Given the description of an element on the screen output the (x, y) to click on. 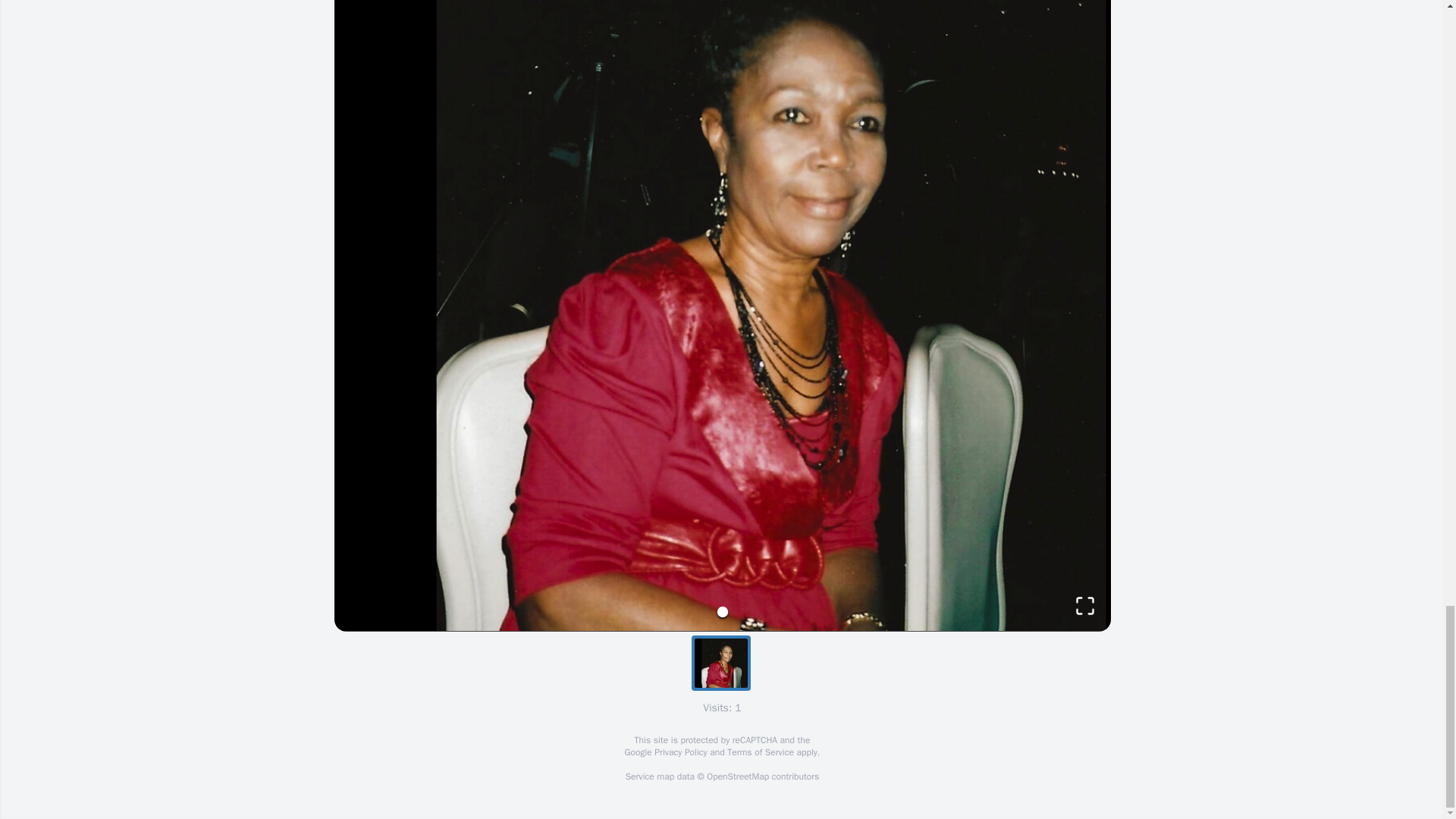
Privacy Policy (679, 752)
